Given the description of an element on the screen output the (x, y) to click on. 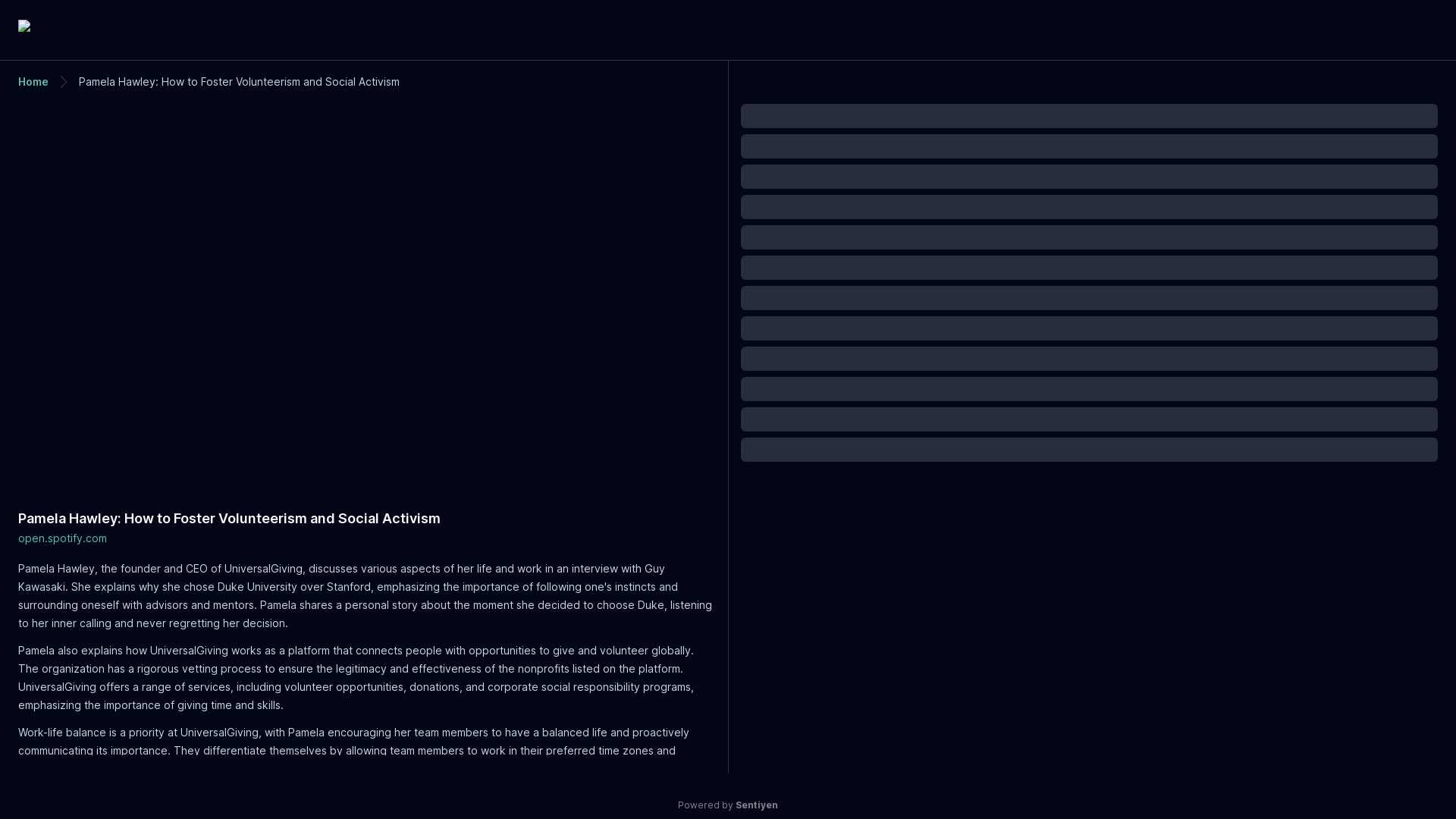
Sentiyen (727, 27)
Sentiyen (756, 804)
Home (32, 81)
